Given the description of an element on the screen output the (x, y) to click on. 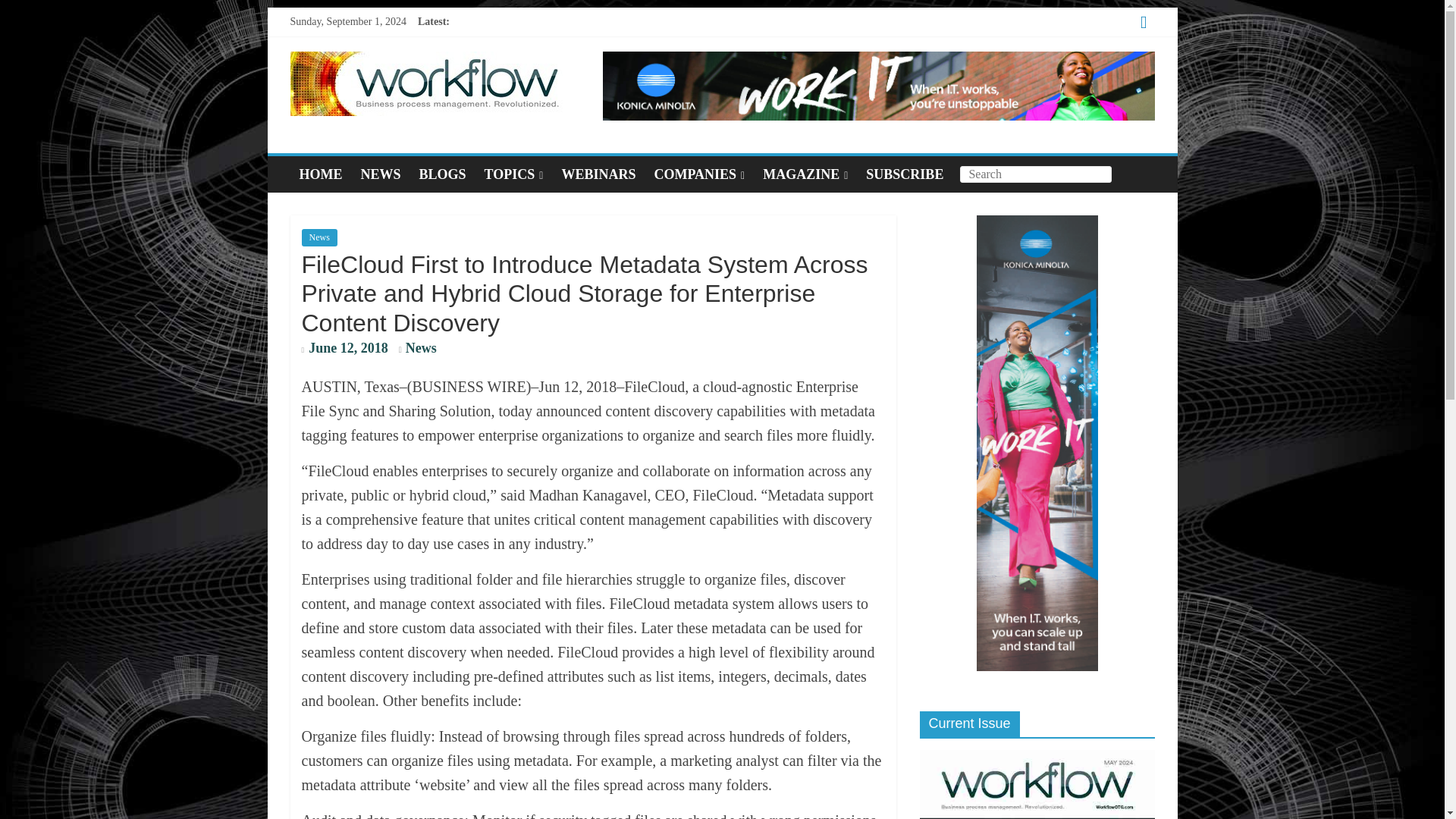
TOPICS (514, 174)
HOME (319, 174)
BLOGS (443, 174)
COMPANIES (699, 174)
News (421, 347)
NEWS (381, 174)
3:25 pm (344, 348)
WEBINARS (598, 174)
